Given the description of an element on the screen output the (x, y) to click on. 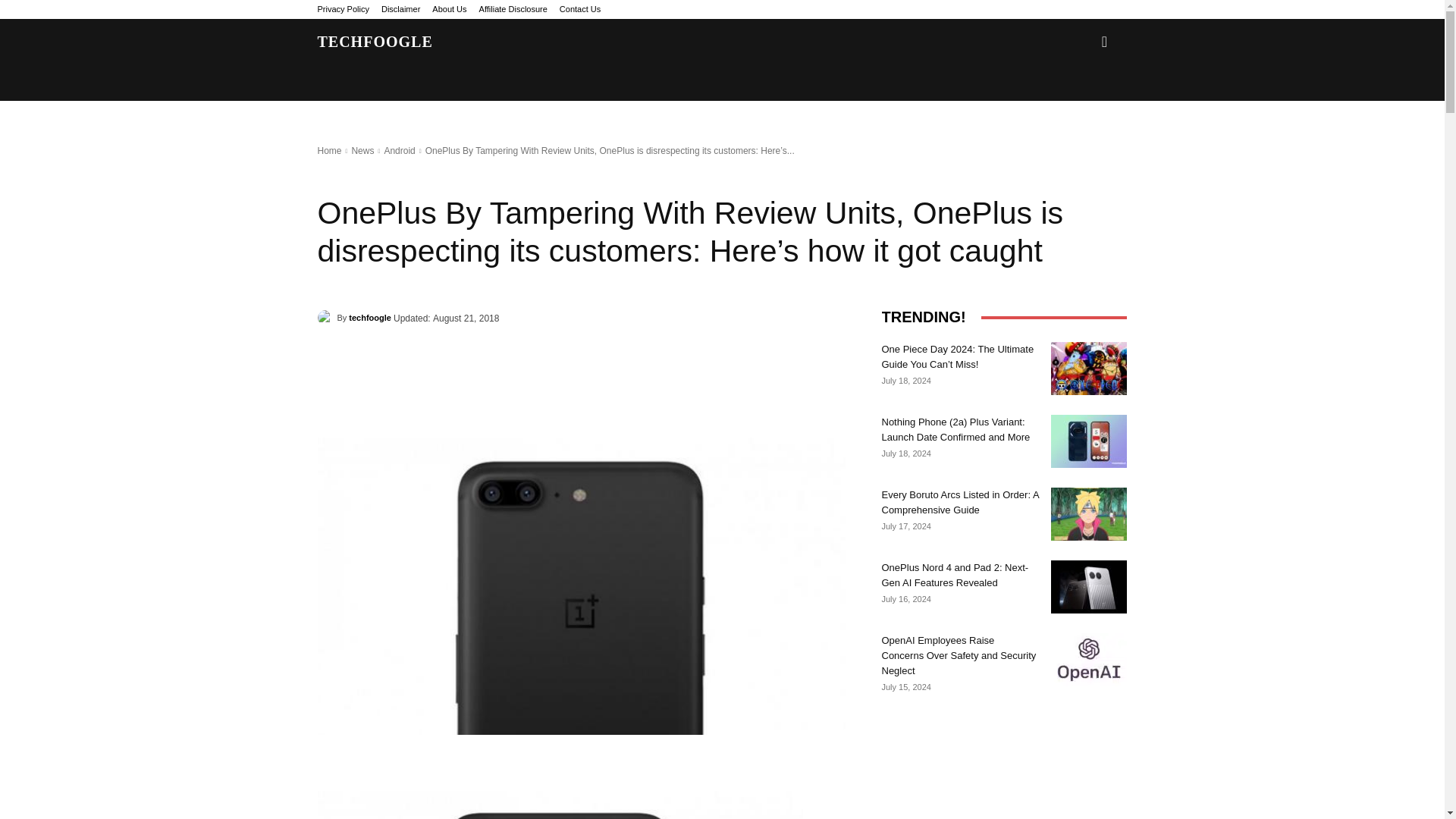
Disclaimer (400, 8)
About Us (448, 8)
TECHFOOGLE (374, 41)
Affiliate Disclosure (513, 8)
Contact Us (579, 8)
Privacy Policy (342, 8)
